Given the description of an element on the screen output the (x, y) to click on. 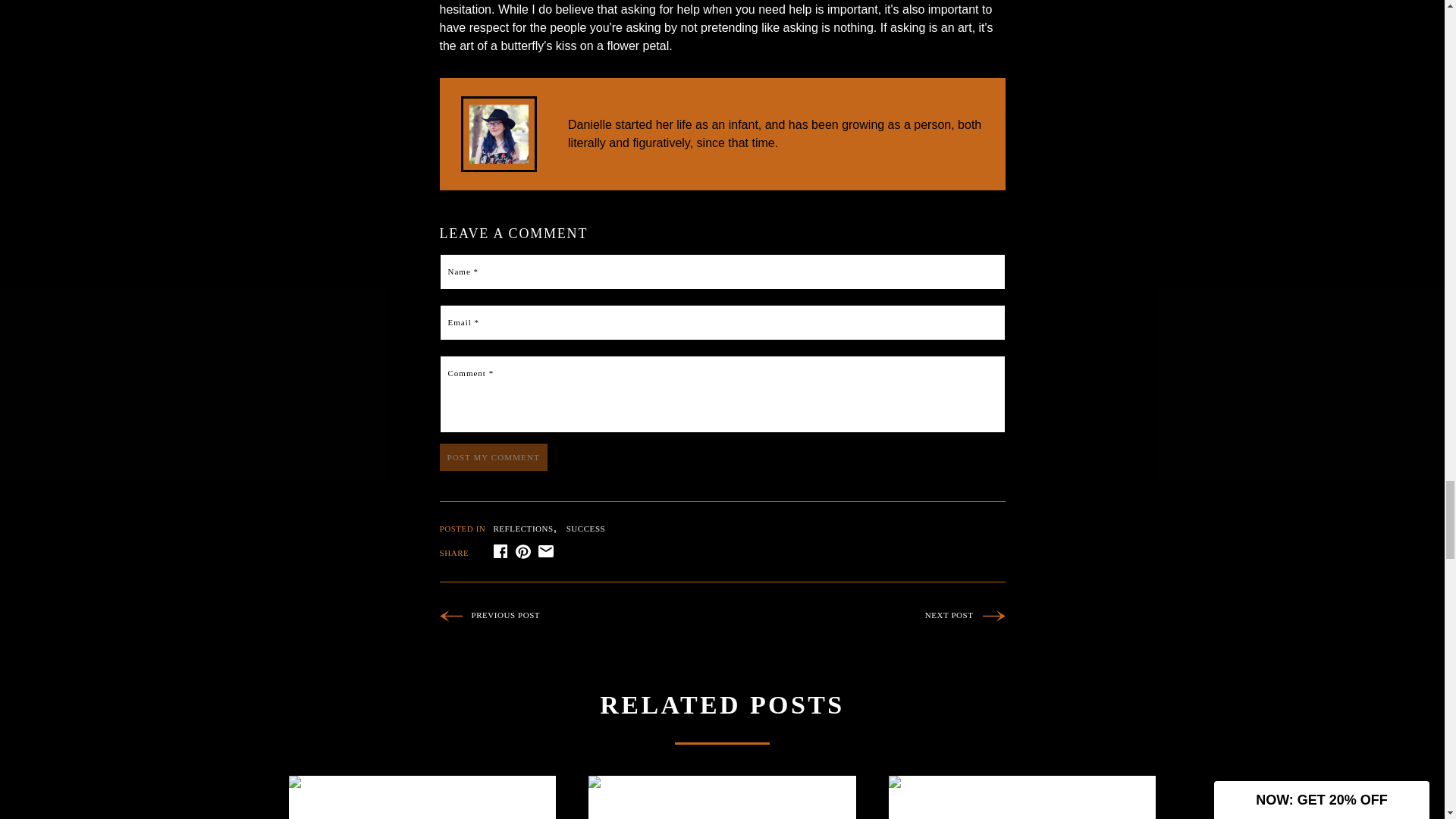
Post my comment (493, 456)
Email this to a friend (545, 552)
